Given the description of an element on the screen output the (x, y) to click on. 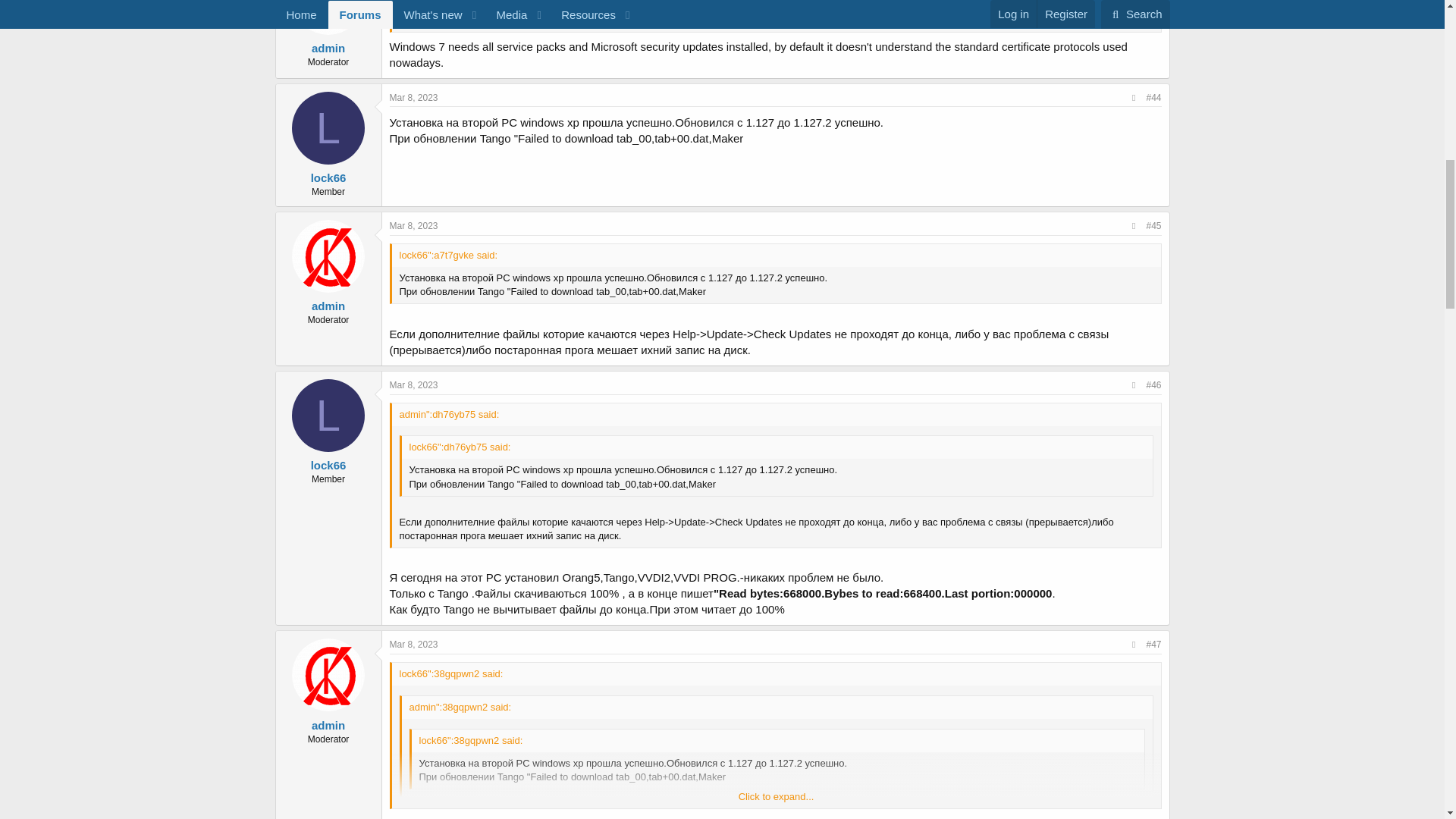
Mar 8, 2023 at 11:51 AM (414, 385)
Mar 8, 2023 at 10:43 AM (414, 225)
Mar 8, 2023 at 1:09 PM (414, 644)
Mar 8, 2023 at 9:36 AM (414, 97)
